Given the description of an element on the screen output the (x, y) to click on. 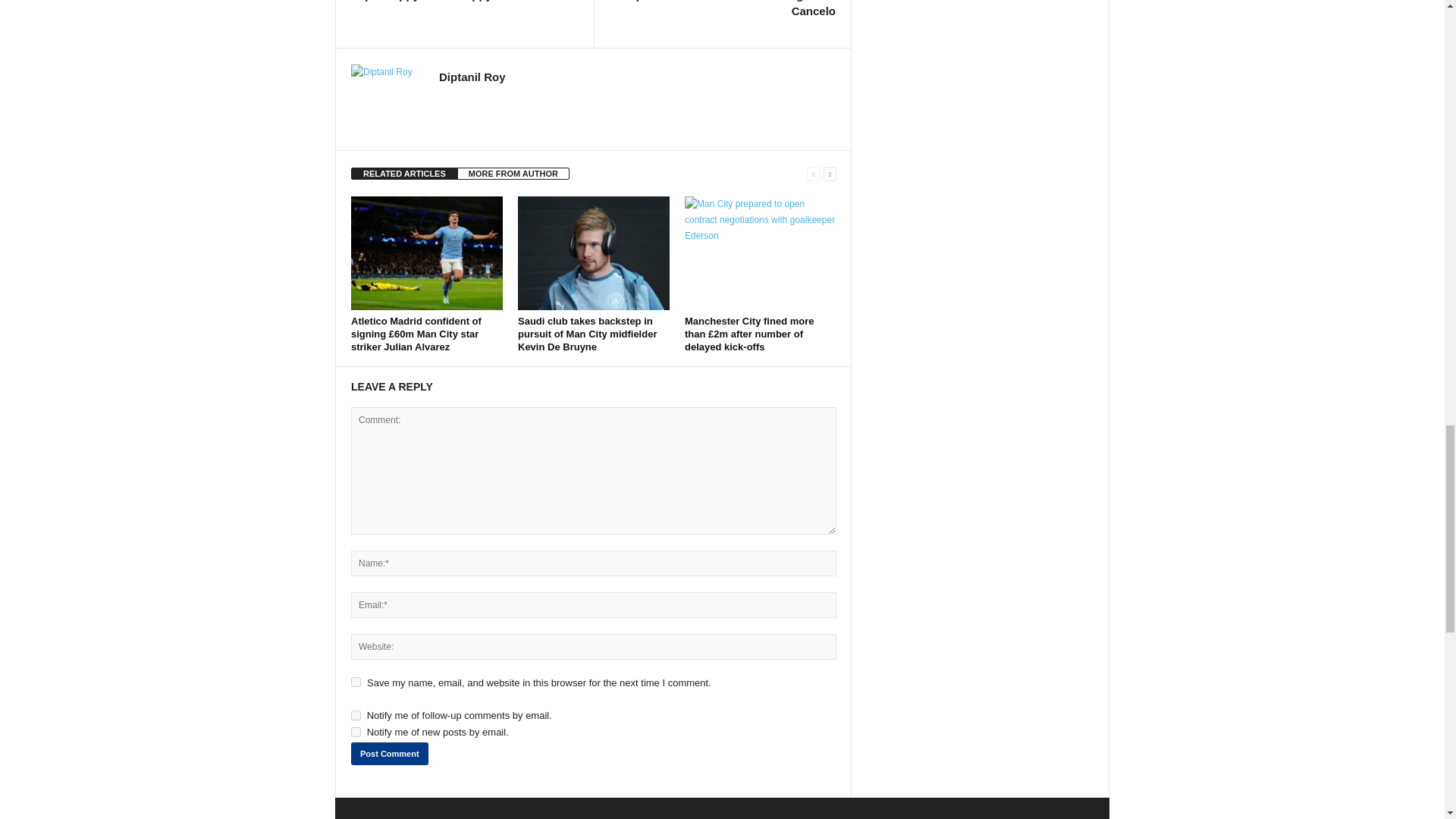
subscribe (355, 732)
yes (355, 682)
subscribe (355, 715)
Post Comment (389, 753)
